Given the description of an element on the screen output the (x, y) to click on. 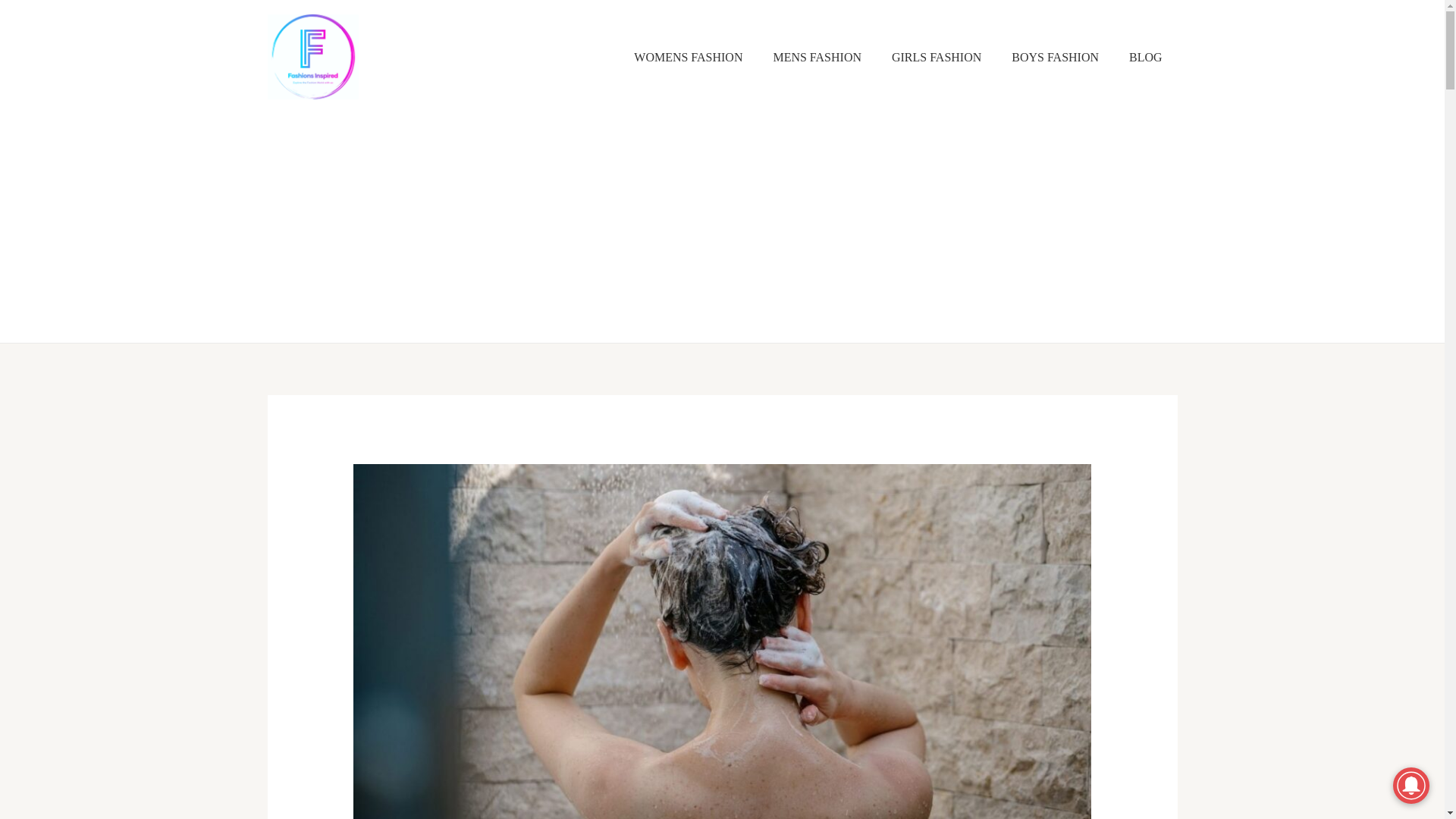
BOYS FASHION (1054, 57)
GIRLS FASHION (935, 57)
BLOG (1145, 57)
MENS FASHION (816, 57)
WOMENS FASHION (687, 57)
